Given the description of an element on the screen output the (x, y) to click on. 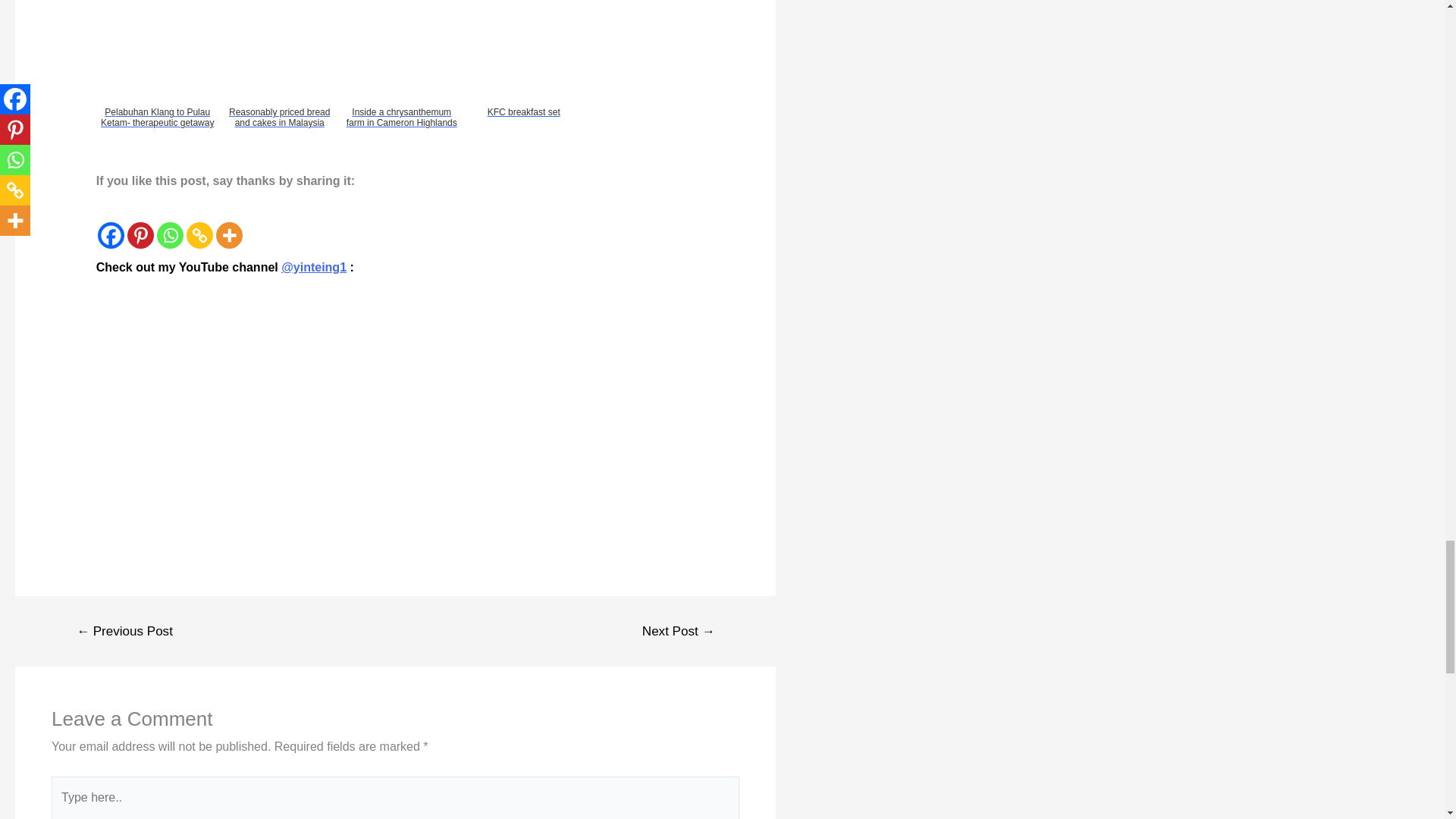
YouTube video player (308, 397)
